Given the description of an element on the screen output the (x, y) to click on. 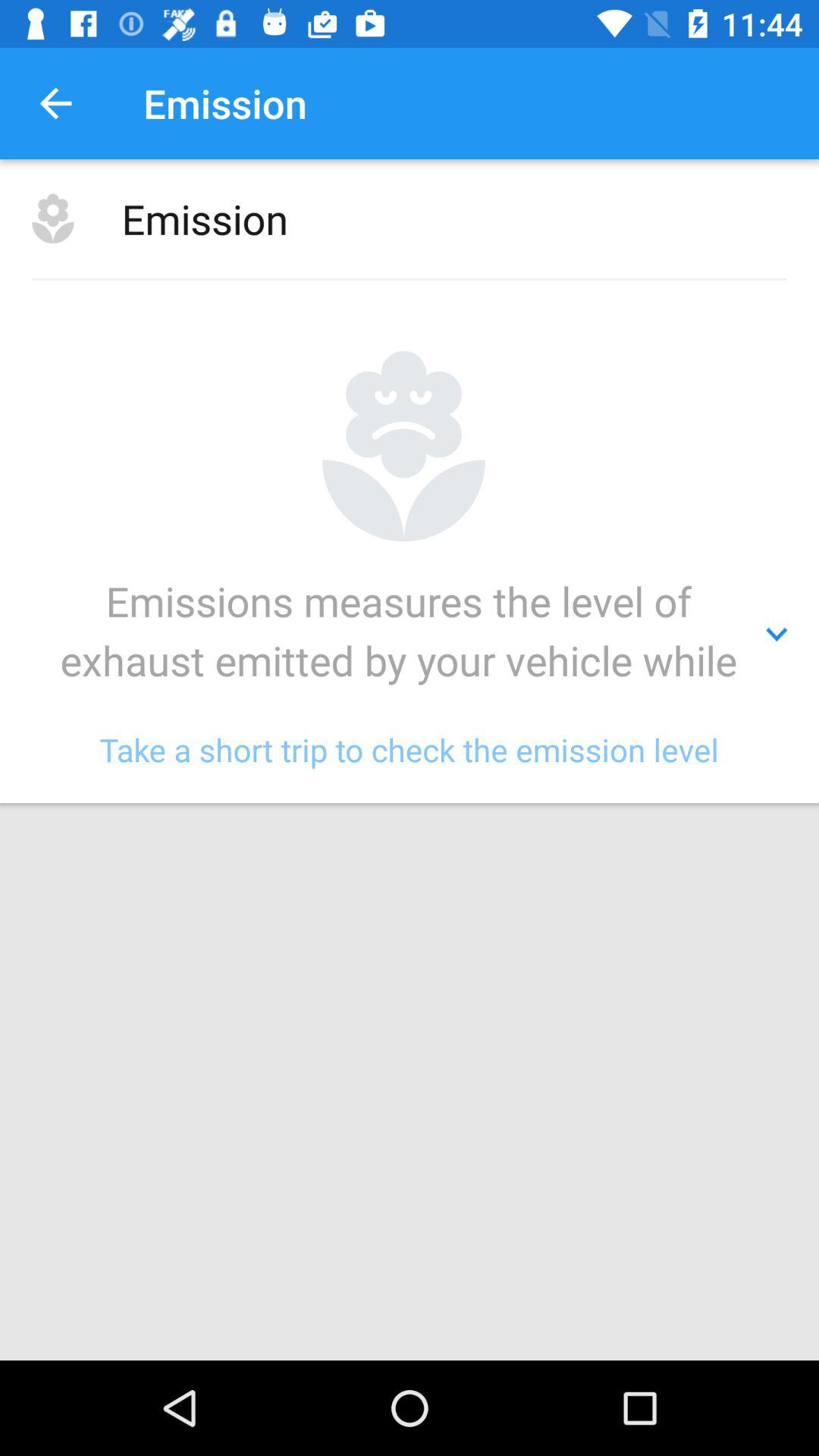
click item to the left of emission icon (55, 103)
